Given the description of an element on the screen output the (x, y) to click on. 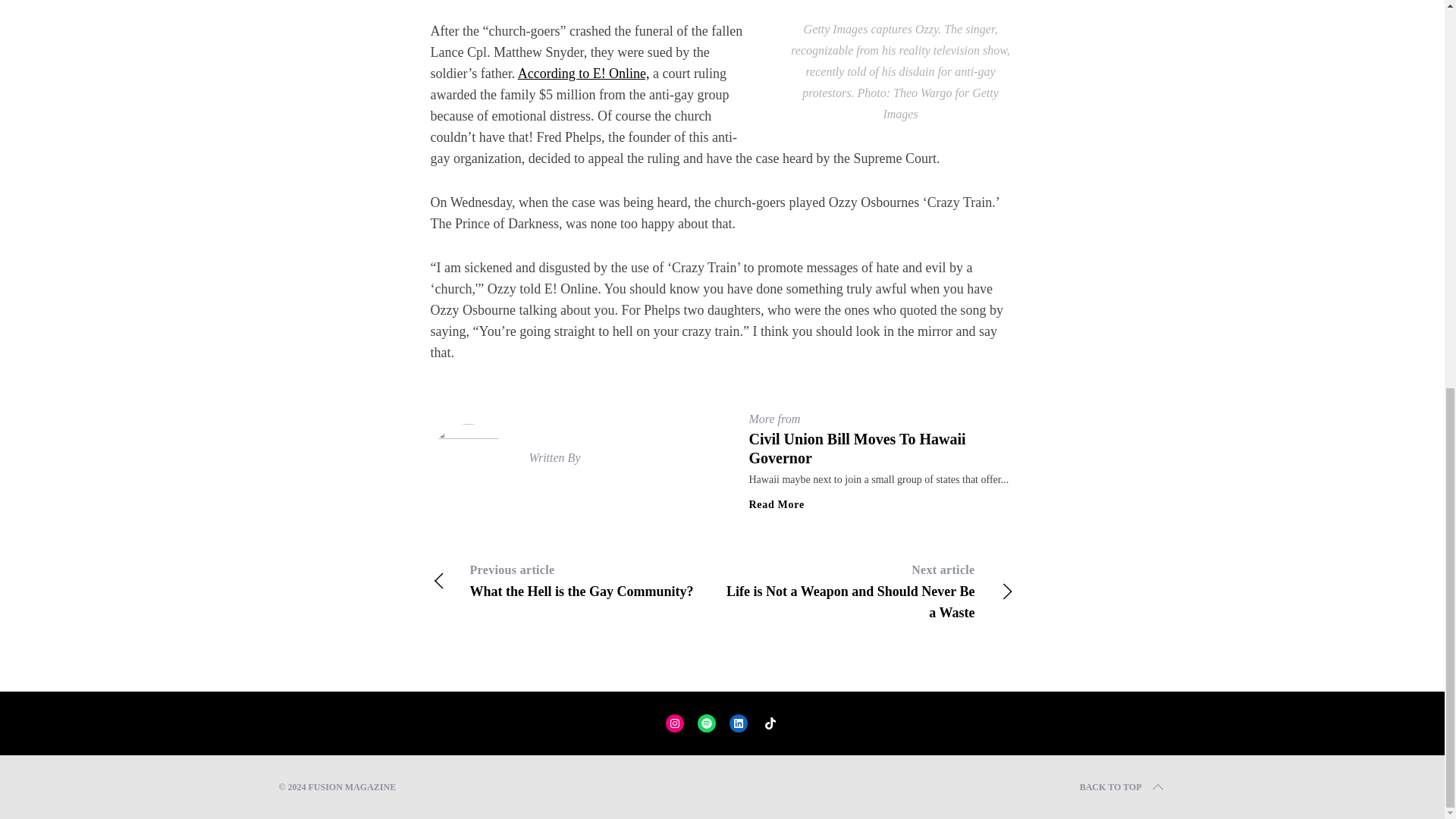
Instagram (674, 723)
Read More (576, 580)
BACK TO TOP (777, 504)
Spotify (1123, 787)
TikTok (706, 723)
LinkedIn (769, 723)
Civil Union Bill Moves To Hawaii Governor (738, 723)
According to E! Online, (857, 448)
